Given the description of an element on the screen output the (x, y) to click on. 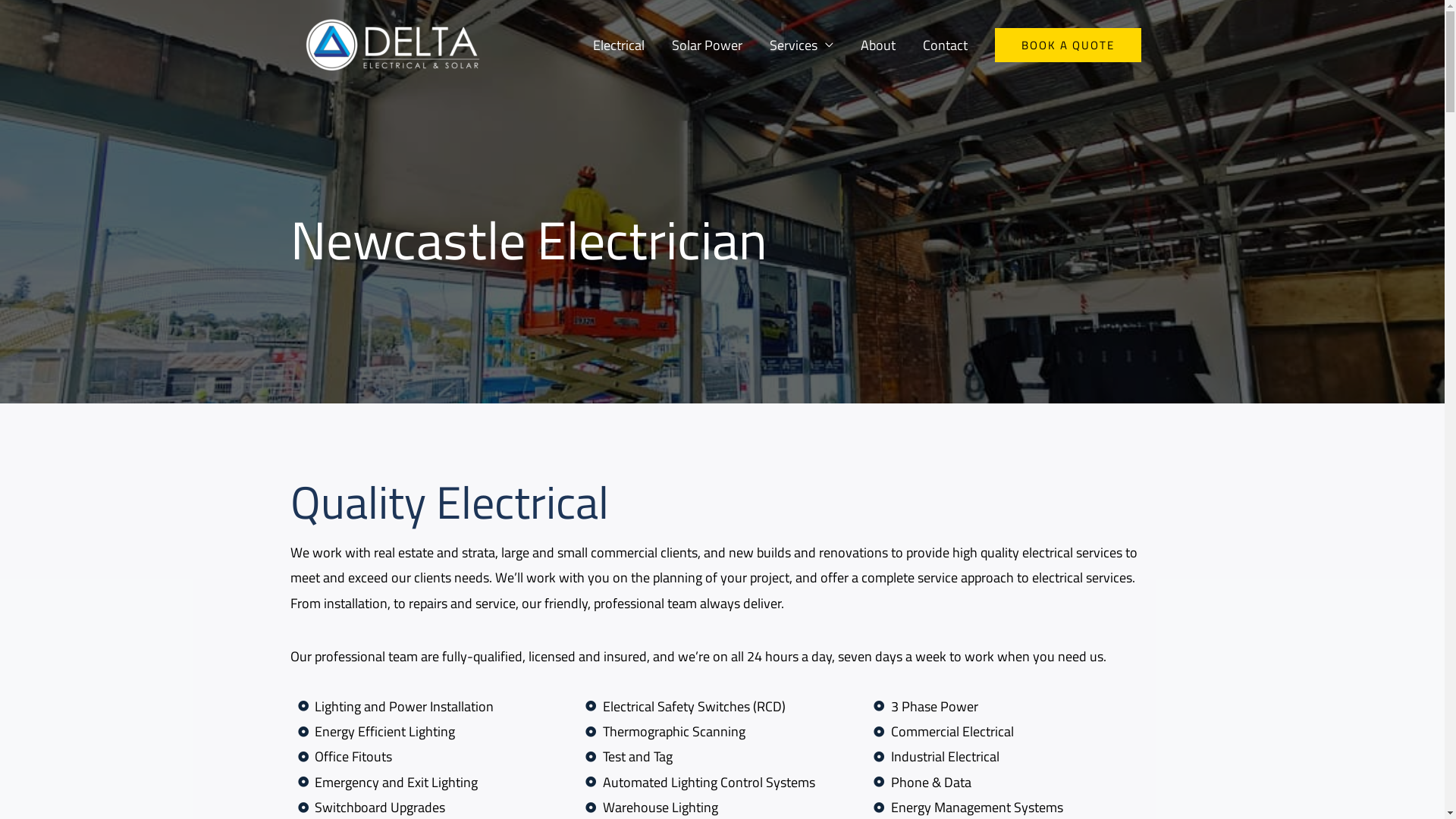
Contact Element type: text (944, 45)
About Element type: text (877, 45)
BOOK A QUOTE Element type: text (1067, 45)
Services Element type: text (800, 45)
Solar Power Element type: text (707, 45)
Electrical Element type: text (618, 45)
